Given the description of an element on the screen output the (x, y) to click on. 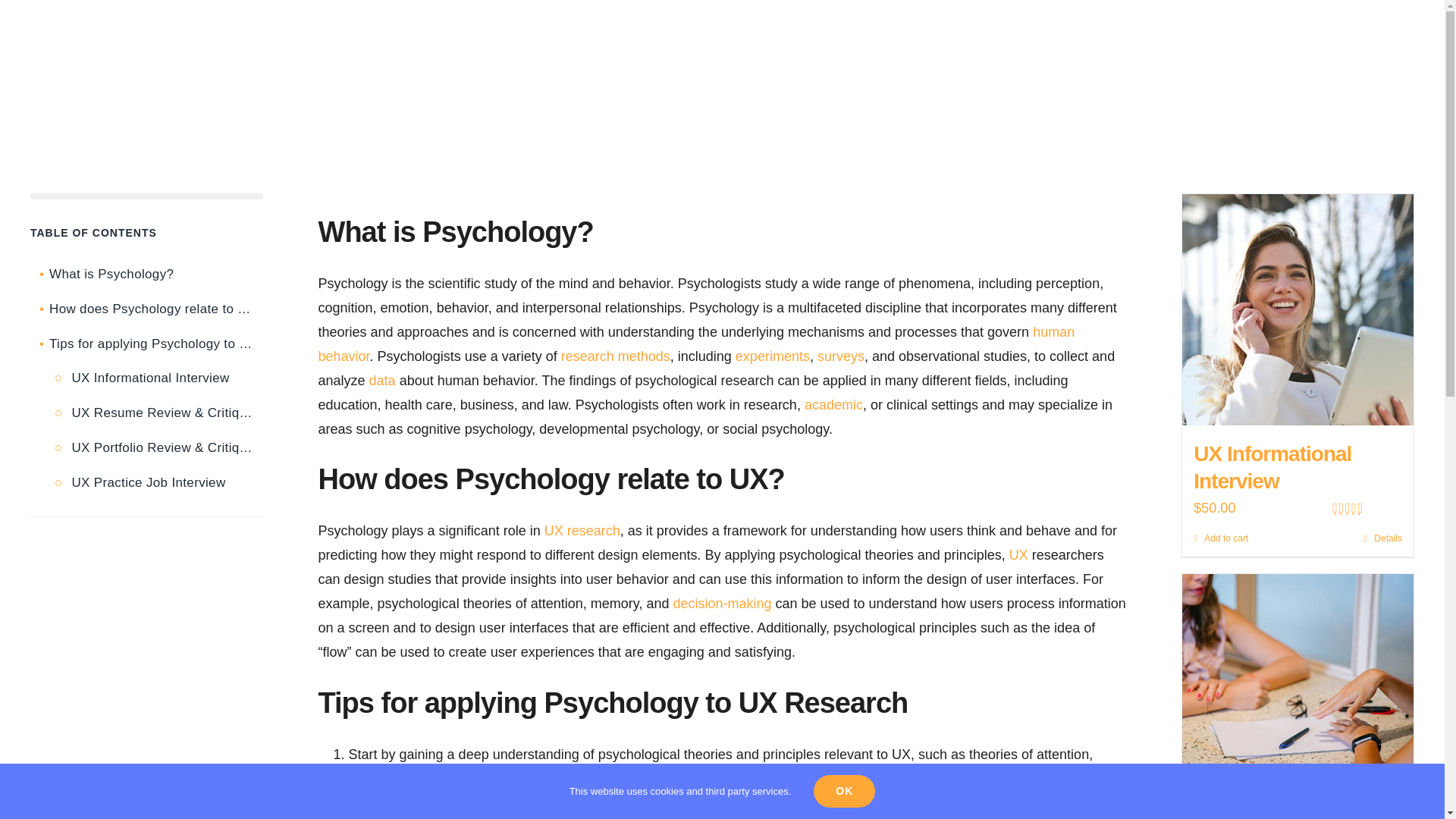
Log In (1141, 233)
My Account (1101, 38)
Podcast (823, 38)
UX Resume Review Critique (1297, 688)
Career Coaching (724, 38)
Tips for applying Psychology to UX Research (146, 344)
What is Psychology? (146, 274)
0 (146, 196)
UX Informational Interview (1297, 309)
How does Psychology relate to UX? (146, 308)
Contact (1012, 38)
